Given the description of an element on the screen output the (x, y) to click on. 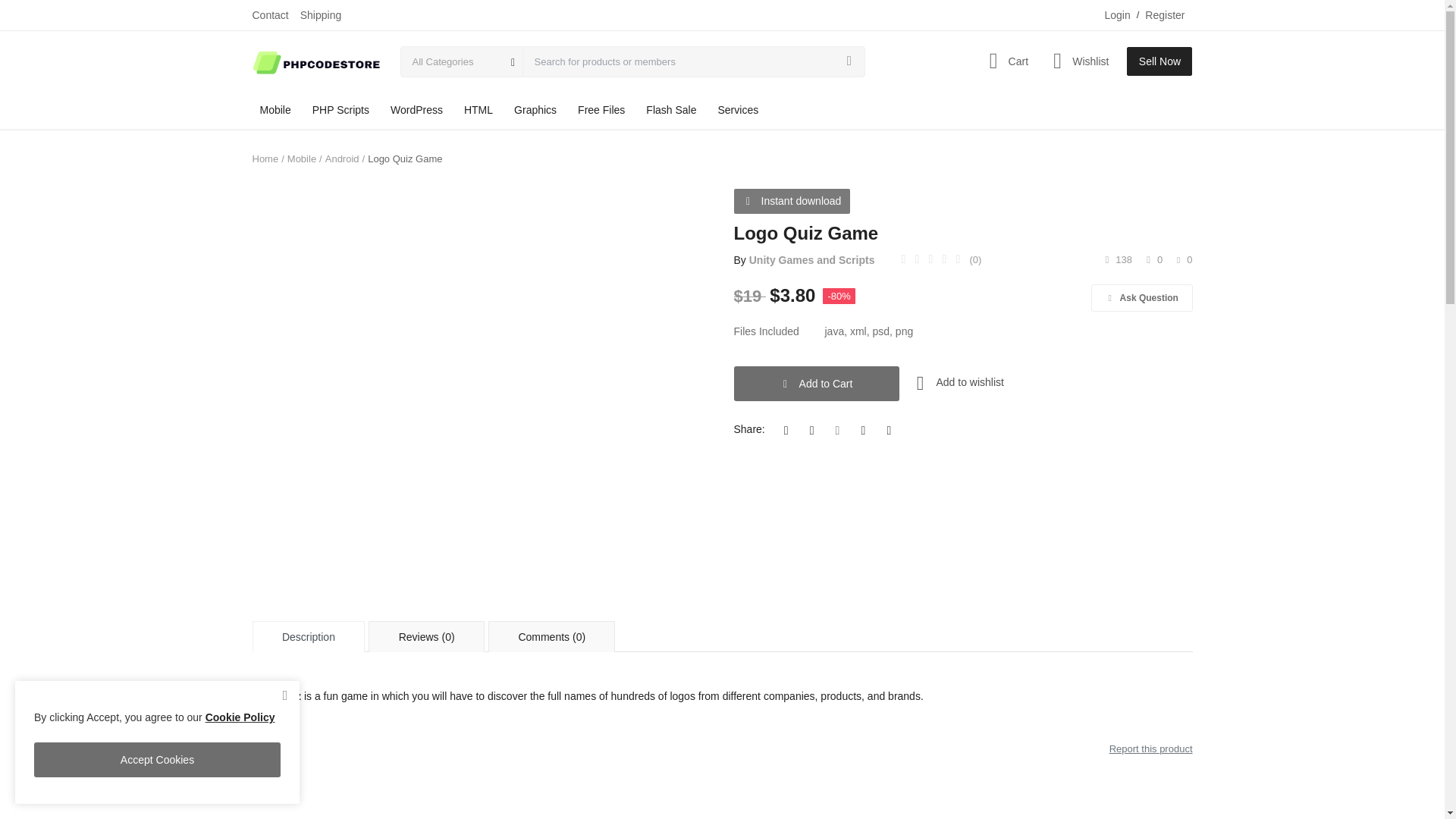
Login (1116, 14)
Flash Sale (671, 109)
Register (1164, 14)
All Categories (460, 61)
HTML (478, 109)
Graphics (535, 109)
Shipping (320, 14)
Sell Now (1159, 61)
PHP Scripts (340, 109)
Mobile (274, 109)
Wishlist (1078, 60)
WordPress (415, 109)
Free Files (600, 109)
Cart (1004, 60)
Contact (269, 14)
